Given the description of an element on the screen output the (x, y) to click on. 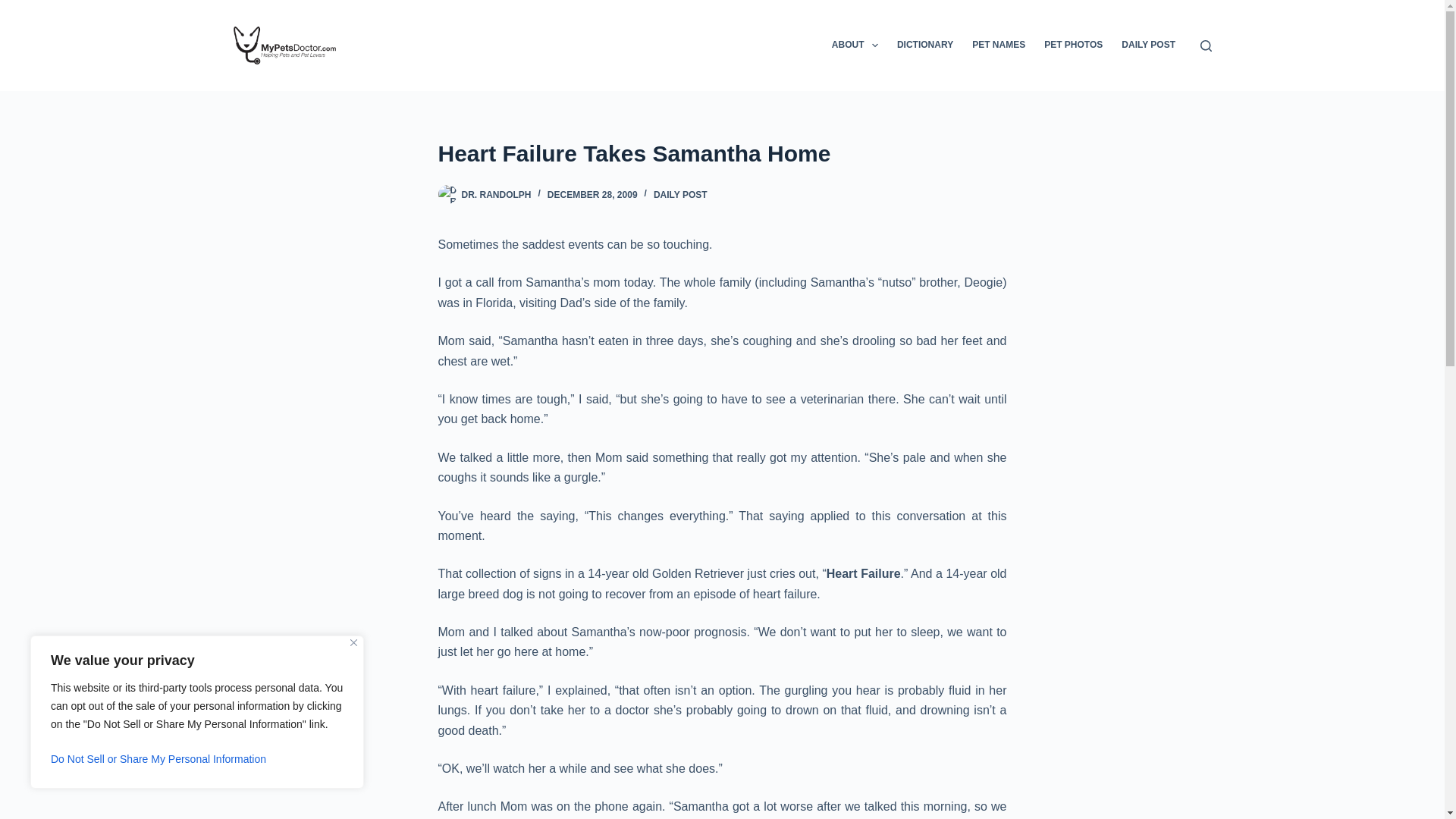
DAILY POST (680, 194)
Heart Failure Takes Samantha Home (722, 153)
Posts by Dr. Randolph (496, 194)
Skip to content (15, 7)
DR. RANDOLPH (496, 194)
Do Not Sell or Share My Personal Information (196, 759)
